Given the description of an element on the screen output the (x, y) to click on. 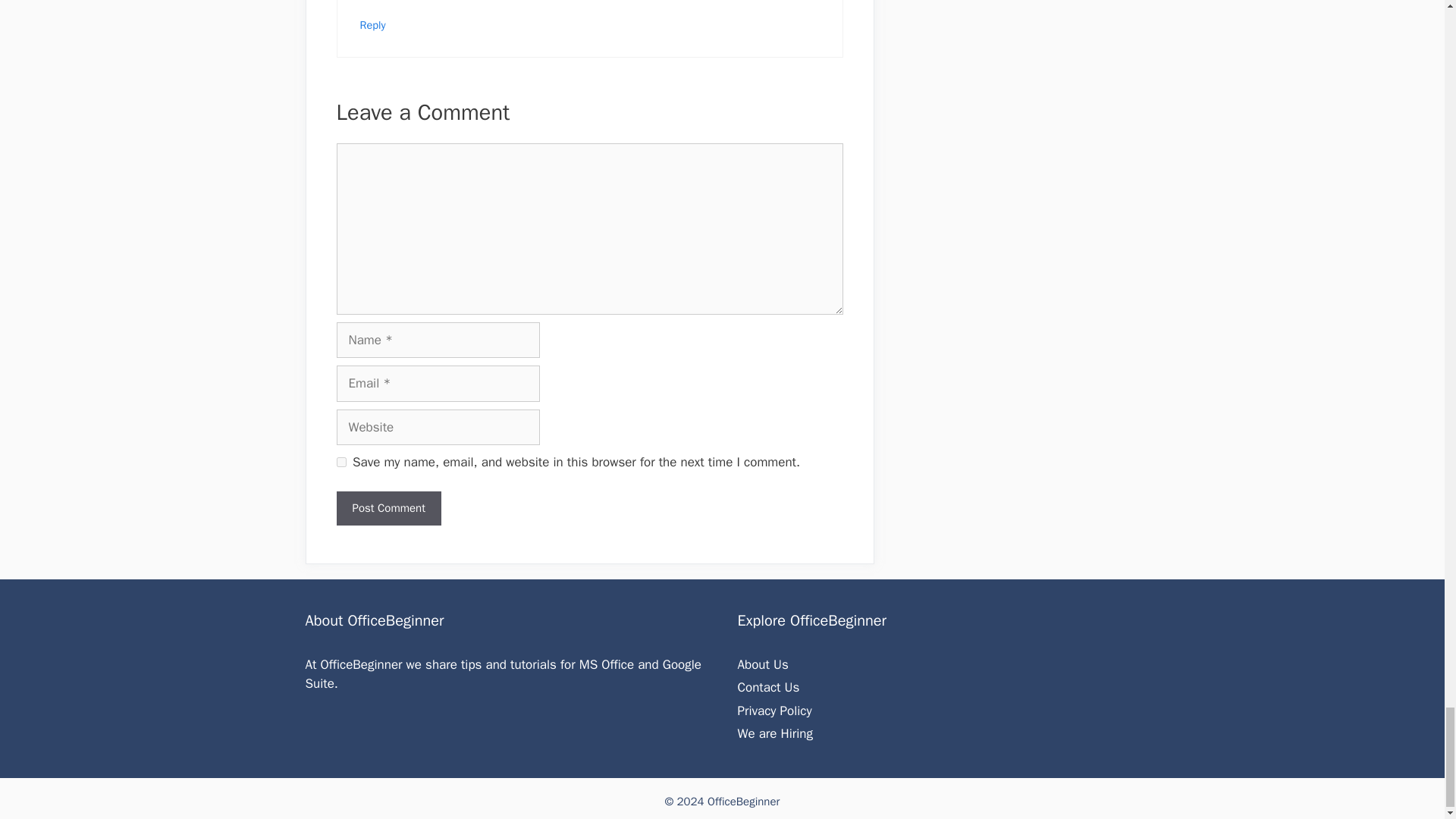
Reply (372, 24)
Post Comment (388, 508)
yes (341, 461)
